Given the description of an element on the screen output the (x, y) to click on. 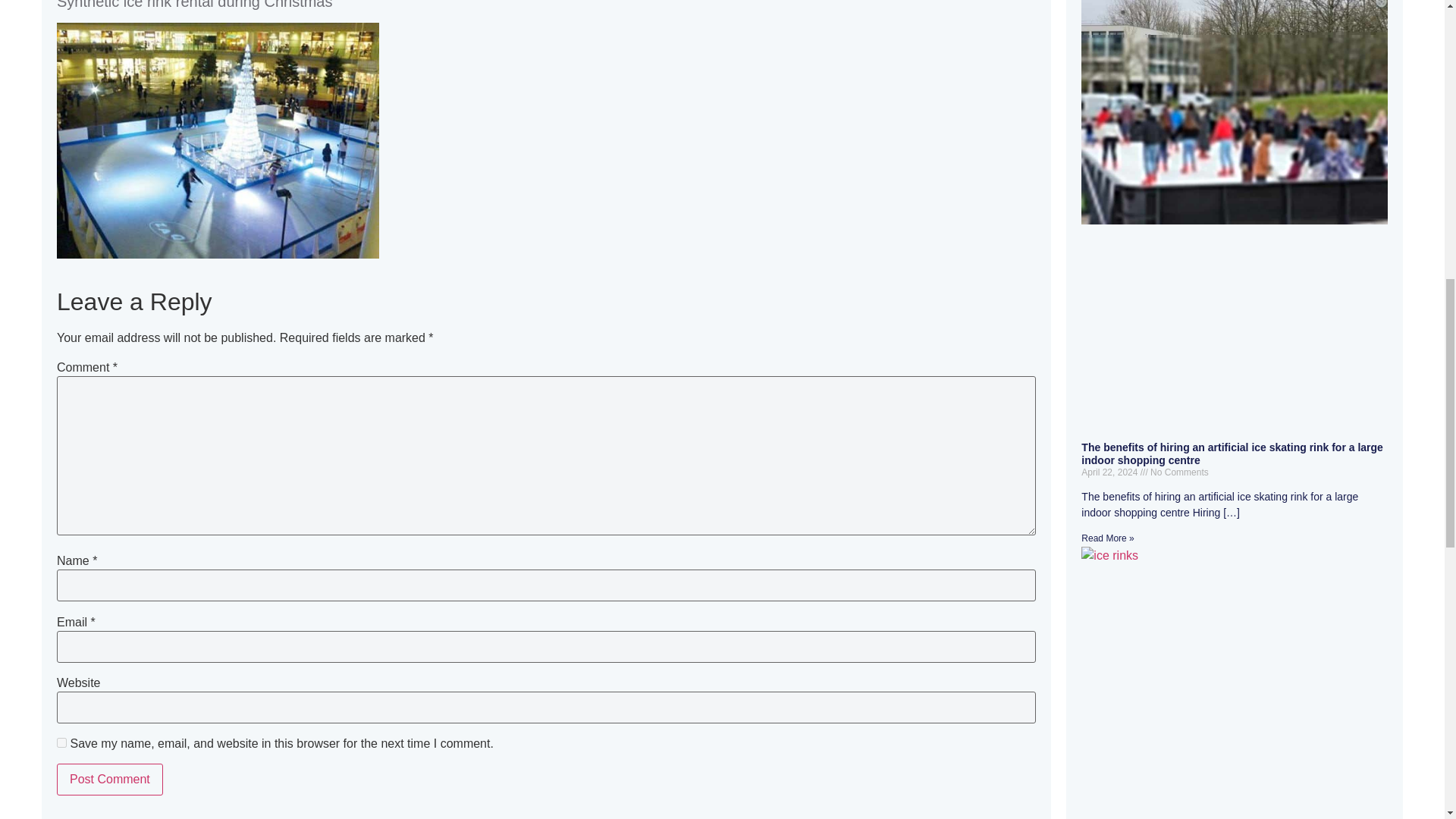
Post Comment (109, 779)
Post Comment (109, 779)
yes (61, 742)
